Given the description of an element on the screen output the (x, y) to click on. 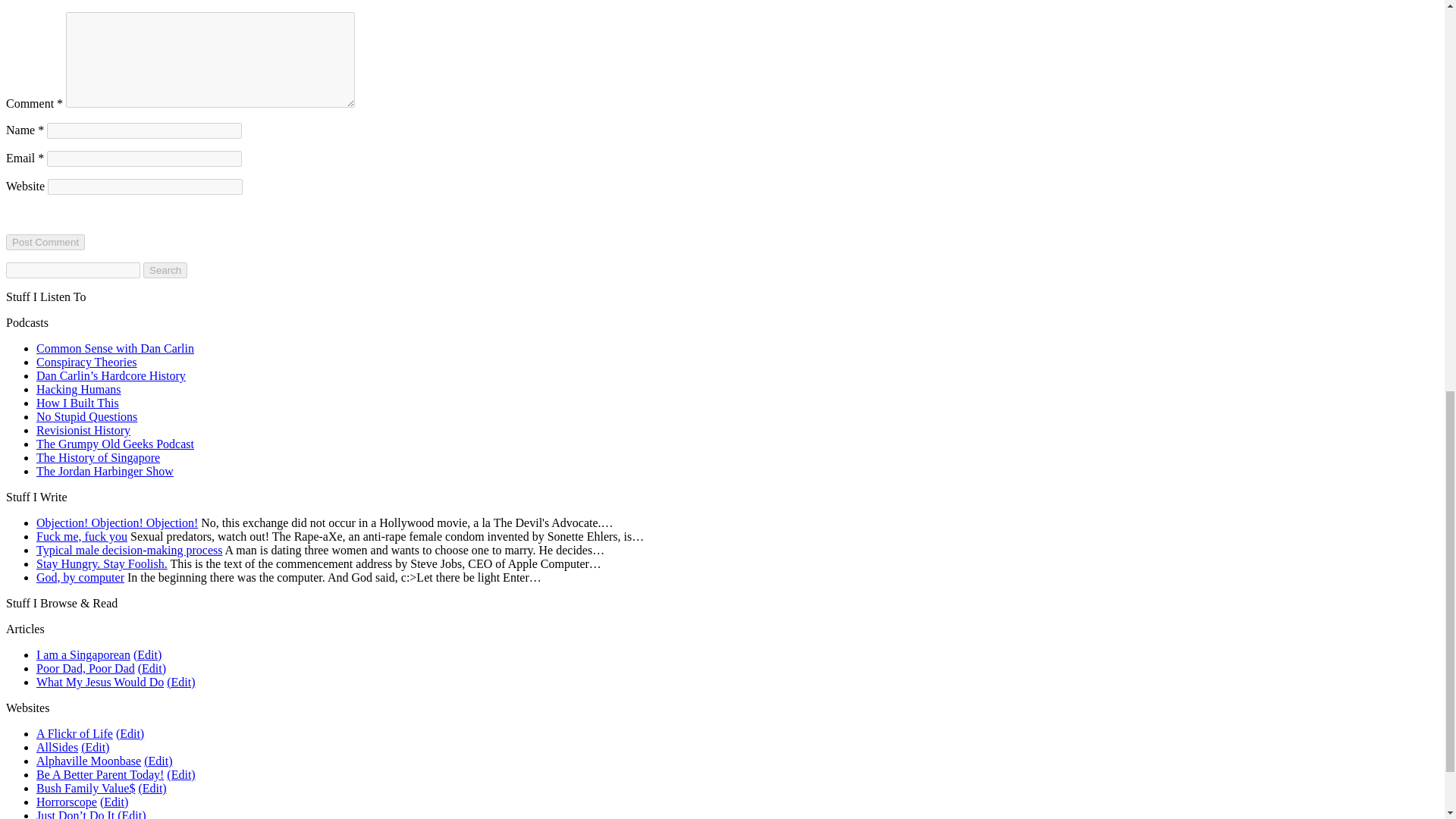
Conspiracy Theories (86, 361)
Search (164, 270)
Post Comment (44, 242)
Search (164, 270)
Common Sense with Dan Carlin (114, 348)
Post Comment (44, 242)
